Given the description of an element on the screen output the (x, y) to click on. 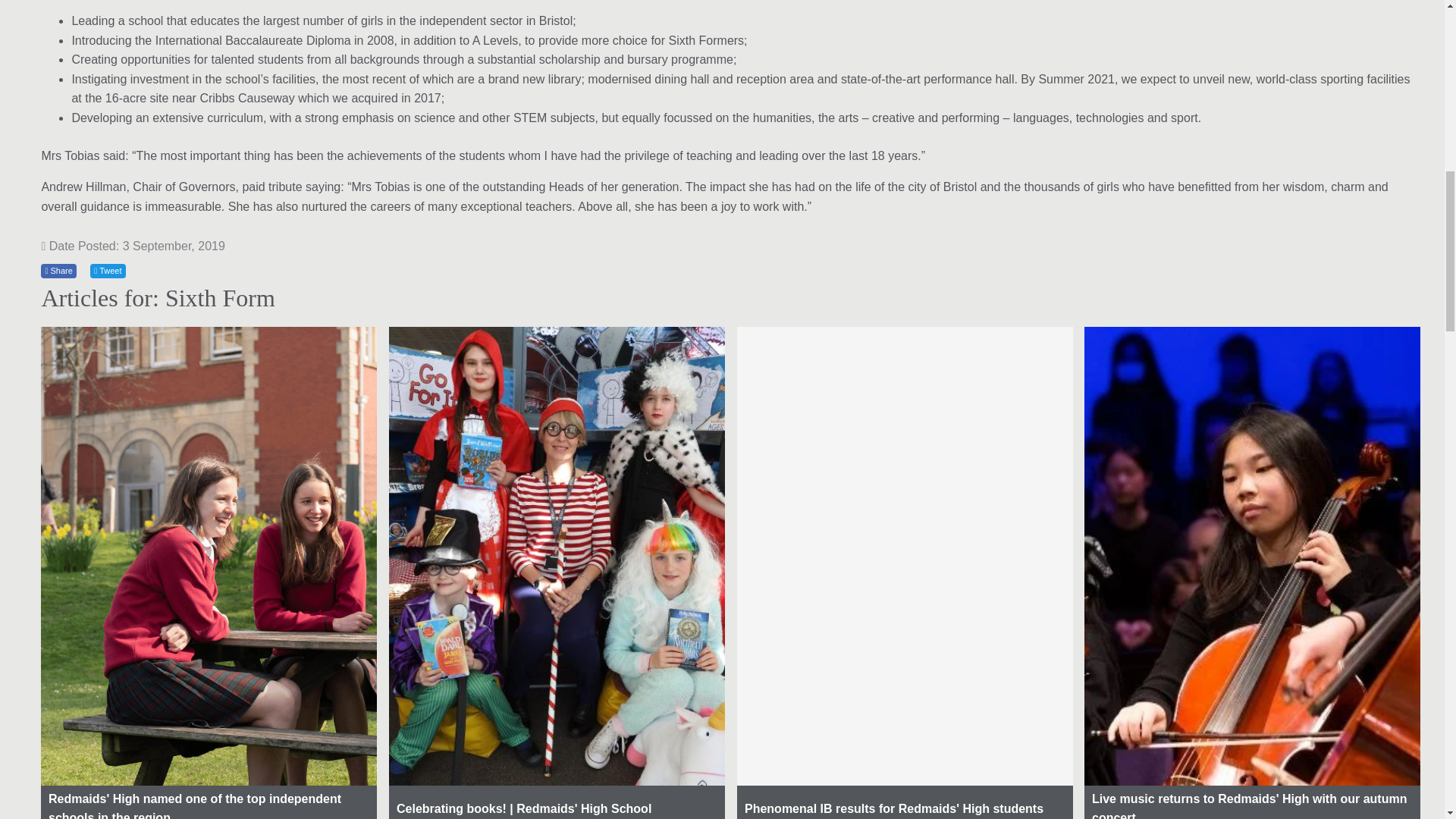
Tweet (107, 270)
Share on Facebook (57, 270)
Share (57, 270)
Share on Twitter (107, 270)
